Given the description of an element on the screen output the (x, y) to click on. 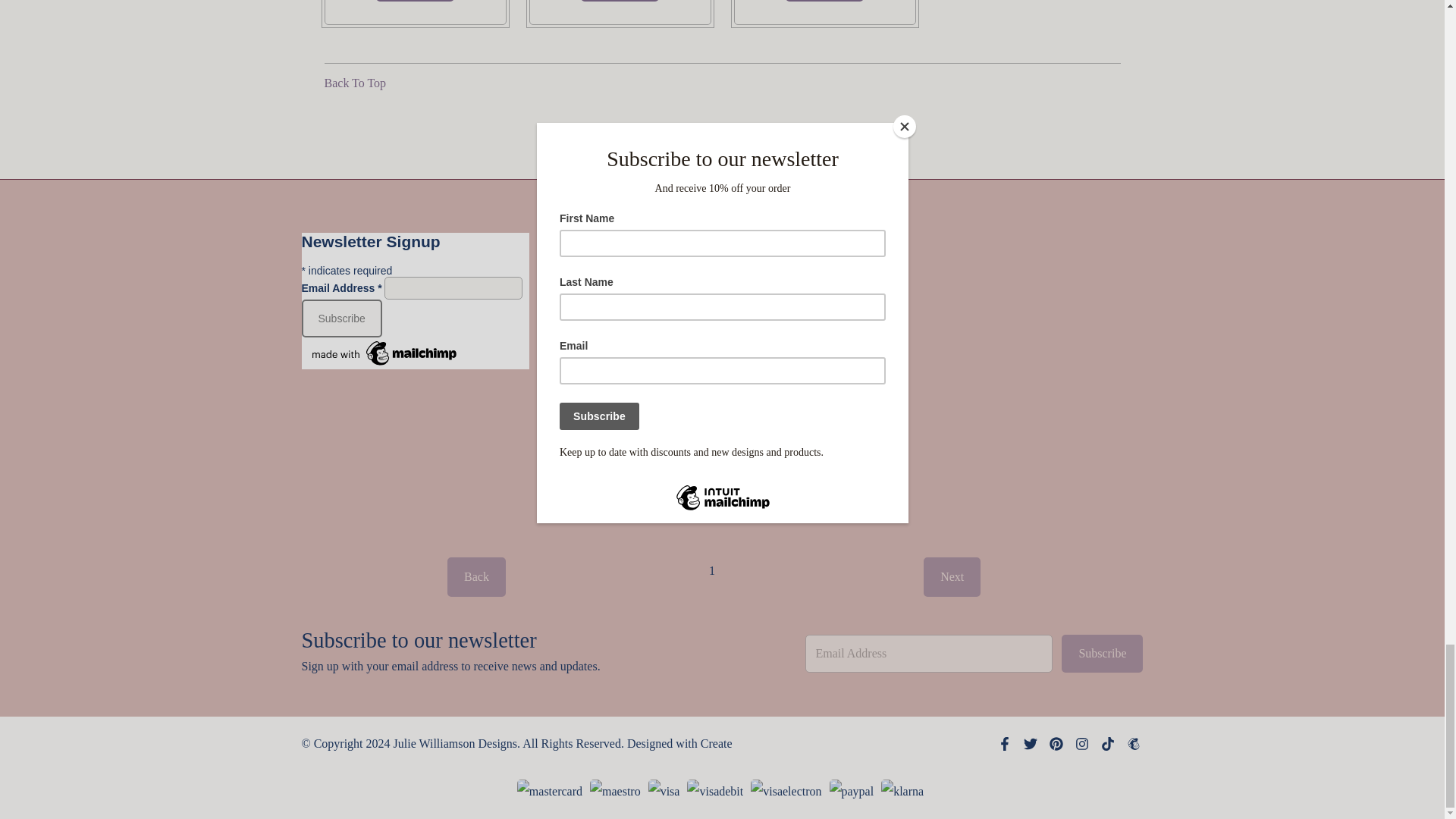
Subscribe (341, 318)
